Given the description of an element on the screen output the (x, y) to click on. 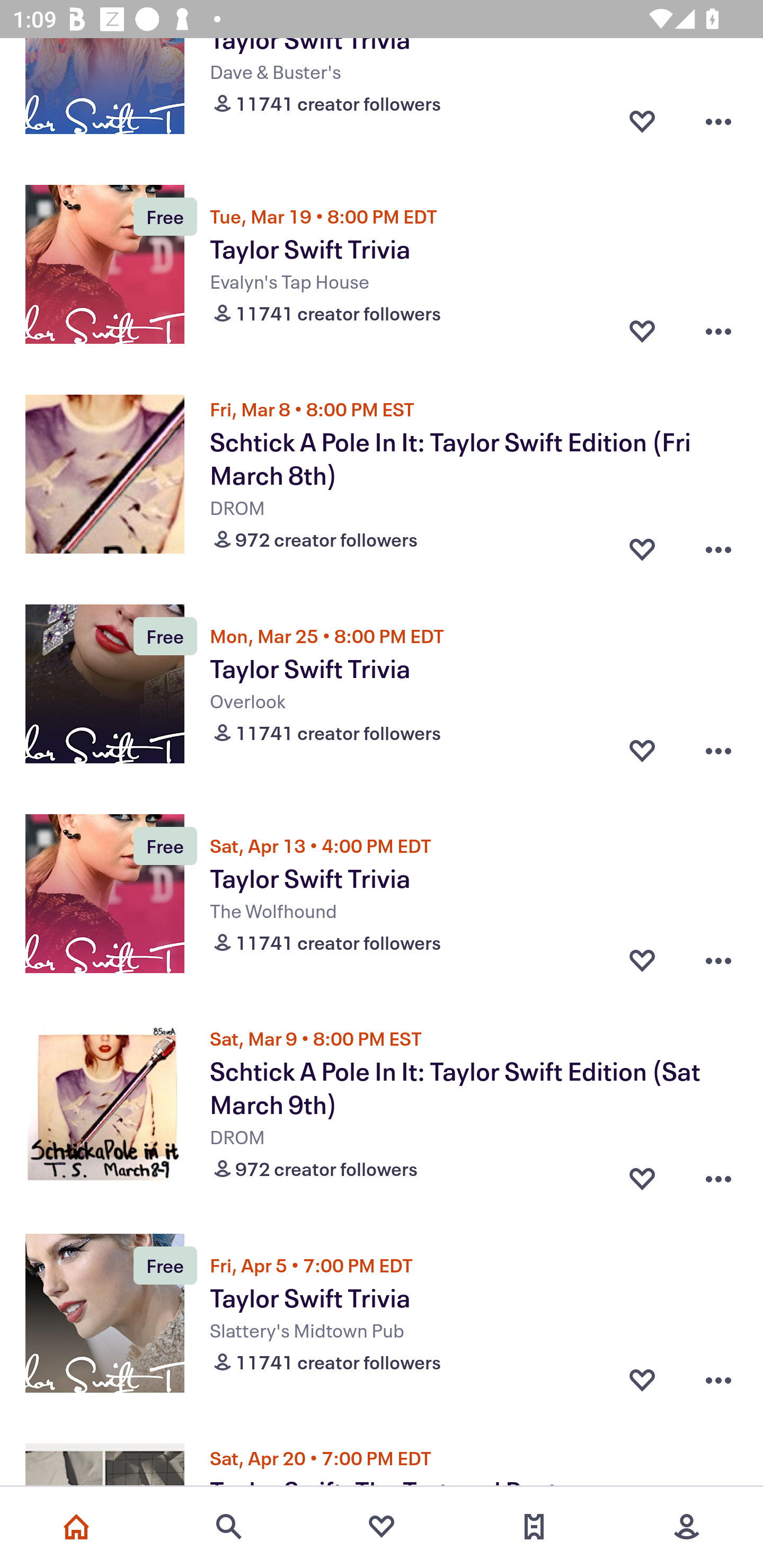
Favorite button (642, 1204)
Overflow menu button (718, 1204)
Home (76, 1526)
Search events (228, 1526)
Favorites (381, 1526)
Tickets (533, 1526)
More (686, 1526)
